Given the description of an element on the screen output the (x, y) to click on. 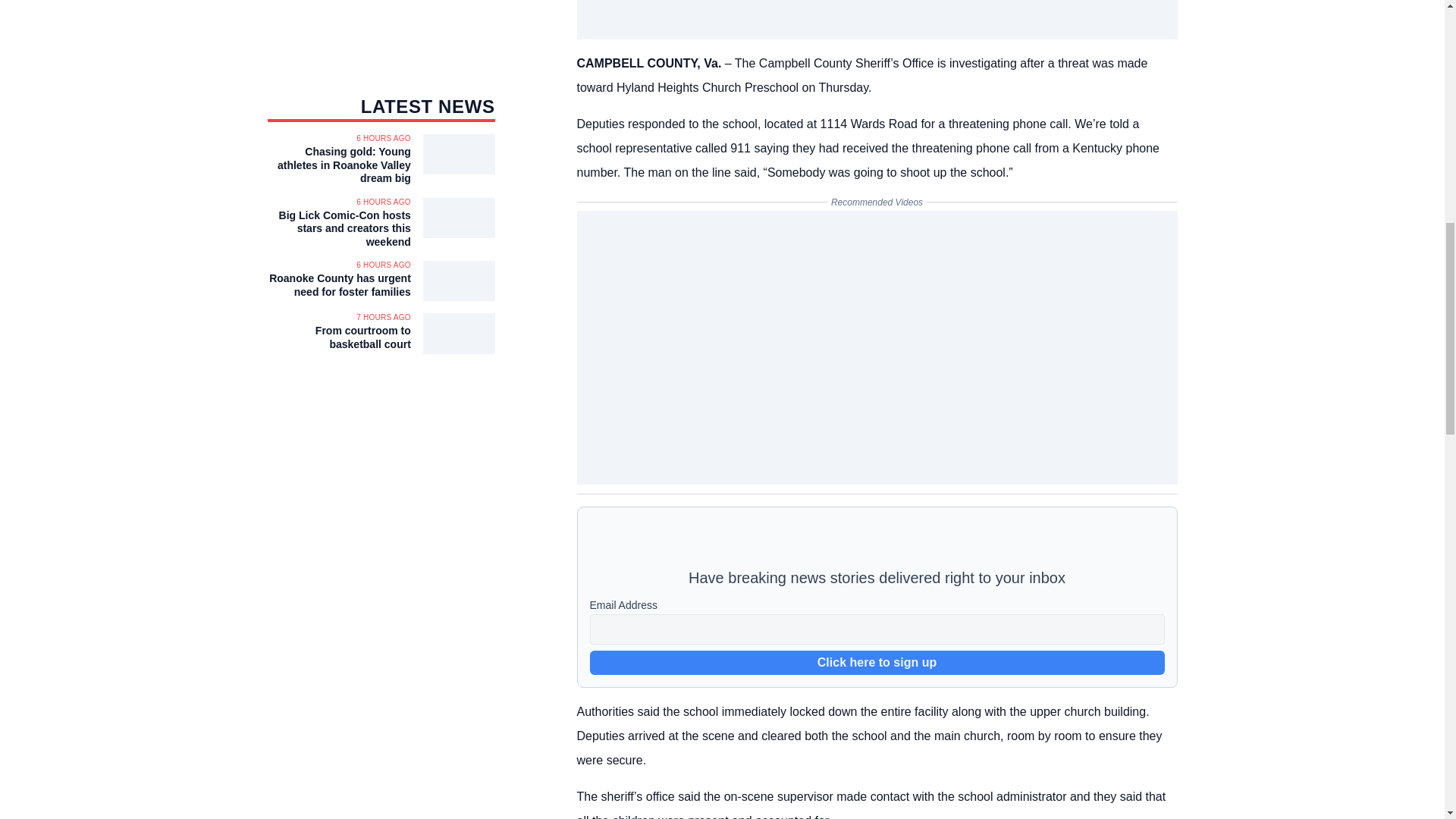
Roanoke County has urgent need for foster families (338, 284)
From courtroom to basketball court (338, 337)
Chasing gold: Young athletes in Roanoke Valley dream big (338, 165)
Big Lick Comic-Con hosts stars and creators this weekend (338, 229)
